Given the description of an element on the screen output the (x, y) to click on. 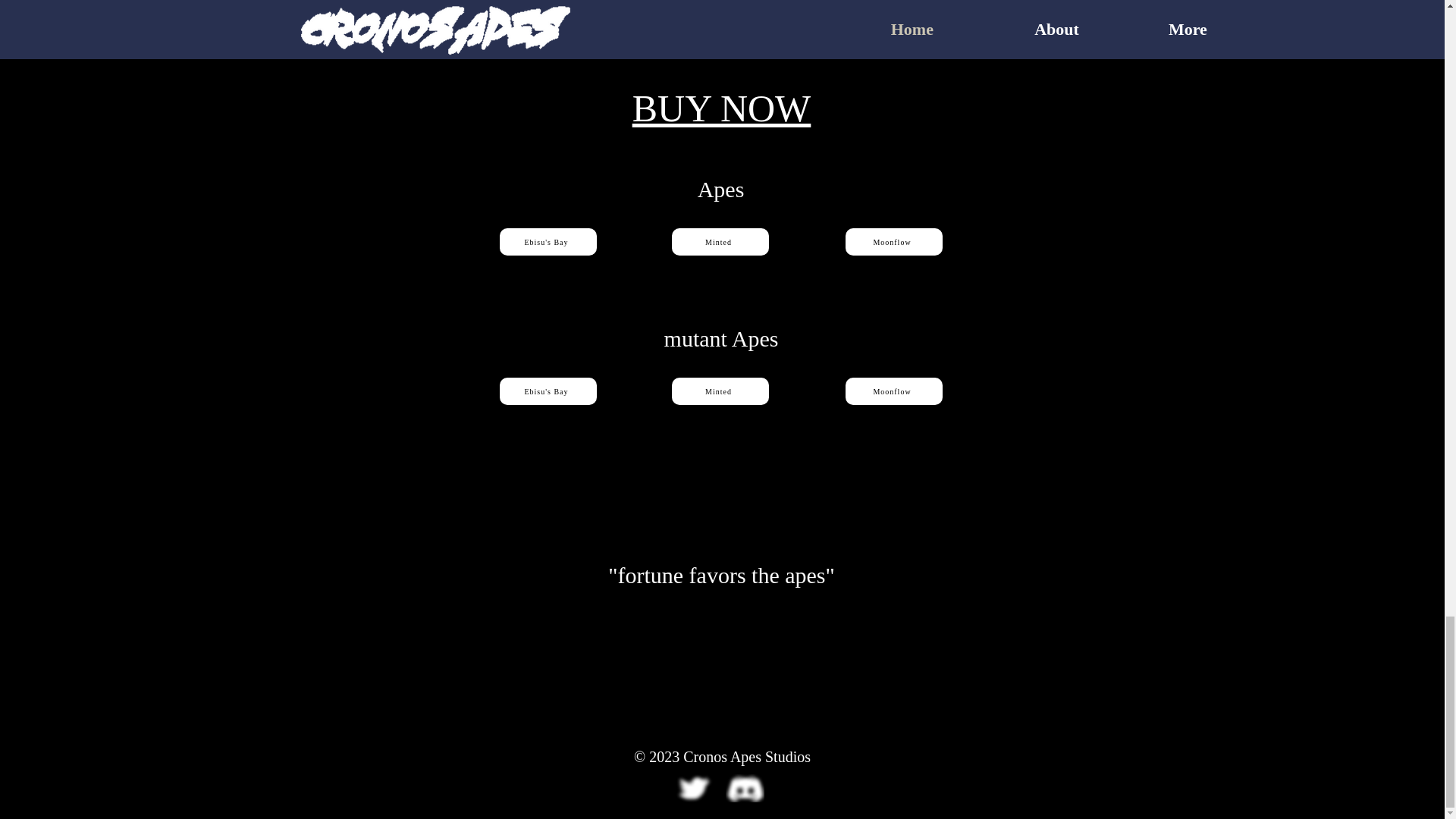
Ebisu's Bay (547, 241)
Ebisu's Bay (547, 390)
Minted (719, 390)
Moonflow (893, 241)
Moonflow (893, 390)
Minted (719, 241)
